Given the description of an element on the screen output the (x, y) to click on. 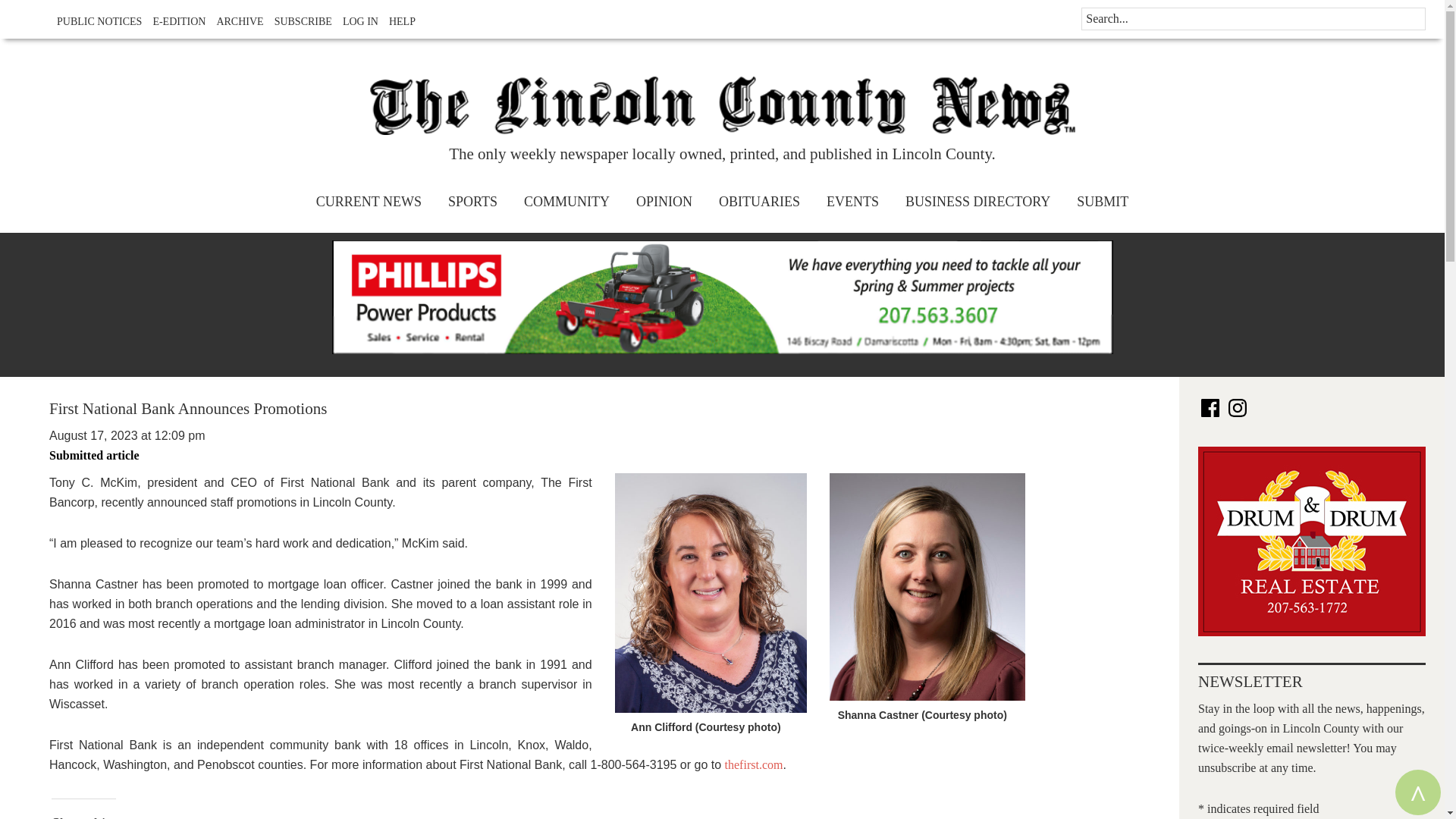
SUBMIT (1102, 201)
HELP (397, 21)
CURRENT NEWS (368, 201)
PUBLIC NOTICES (95, 21)
BUSINESS DIRECTORY (977, 201)
COMMUNITY (566, 201)
ARCHIVE (235, 21)
EVENTS (852, 201)
Submitted article (94, 454)
SUBSCRIBE (298, 21)
